Given the description of an element on the screen output the (x, y) to click on. 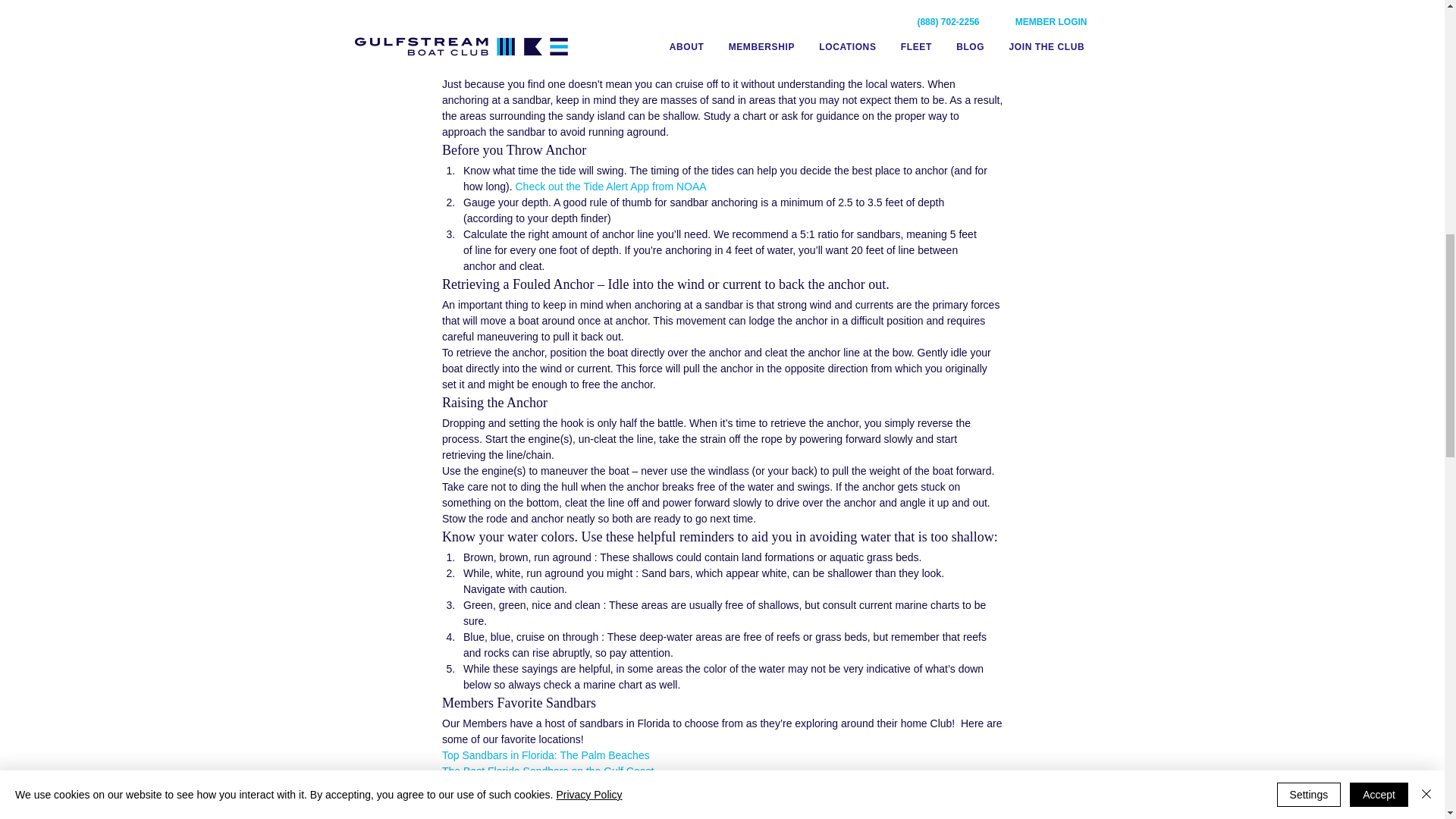
Check out the Tide Alert App from NOAA  (611, 186)
The Best Florida Sandbars on the Gulf Coast (546, 770)
Top Sandbars in Florida: The Palm Beaches    (549, 755)
